Given the description of an element on the screen output the (x, y) to click on. 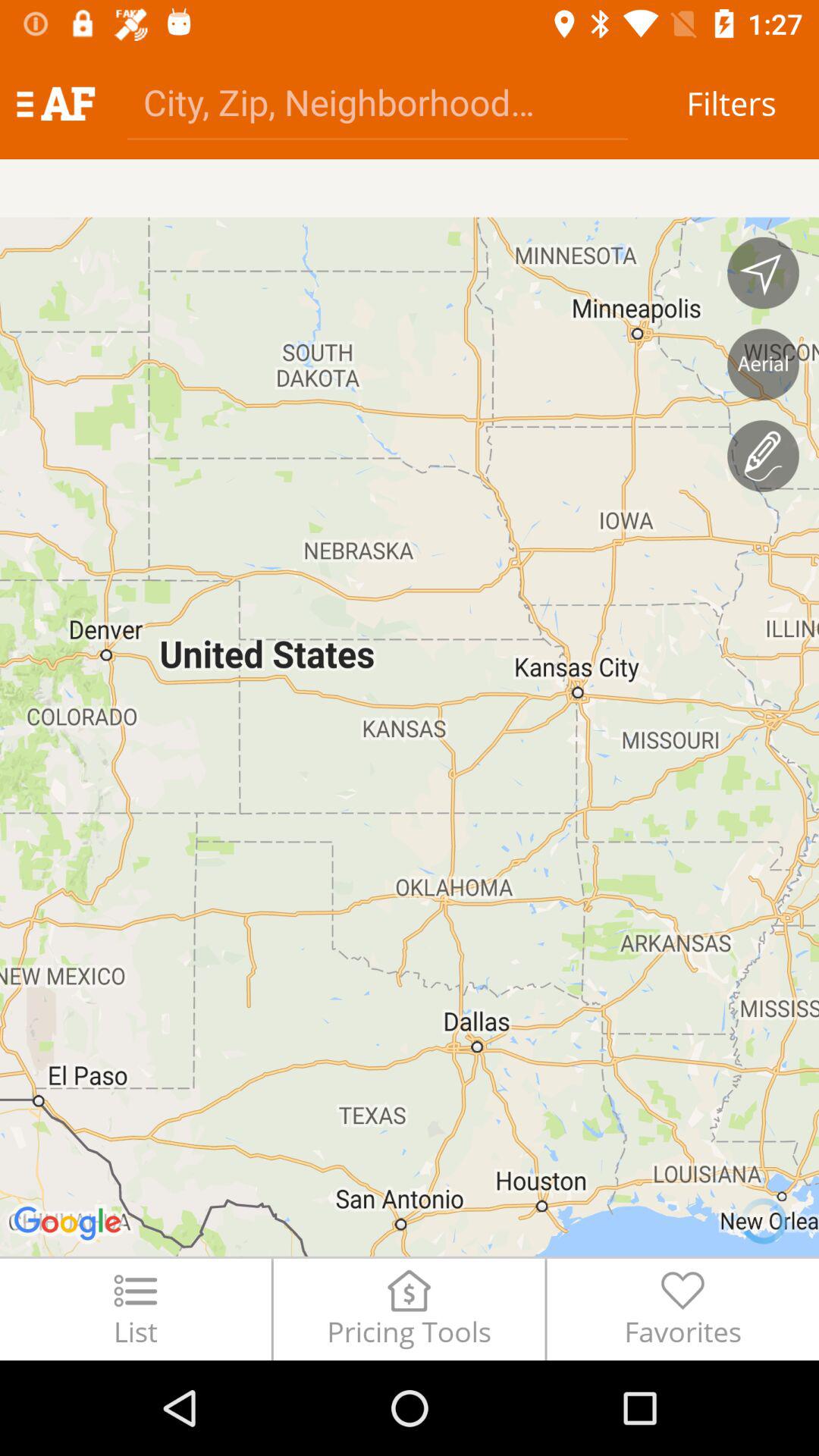
choose icon to the left of favorites item (408, 1309)
